Given the description of an element on the screen output the (x, y) to click on. 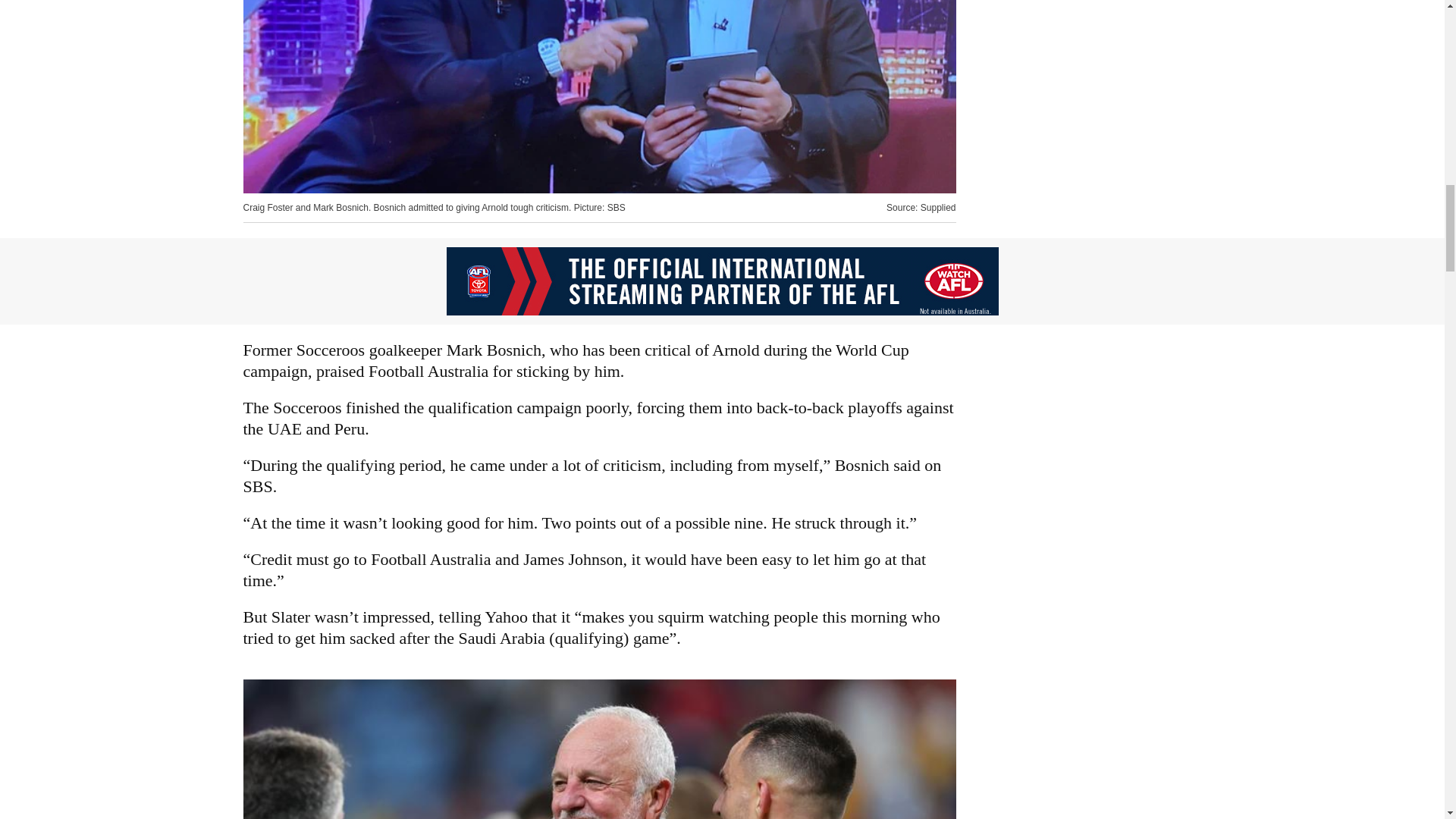
3rd party ad content (721, 281)
